Given the description of an element on the screen output the (x, y) to click on. 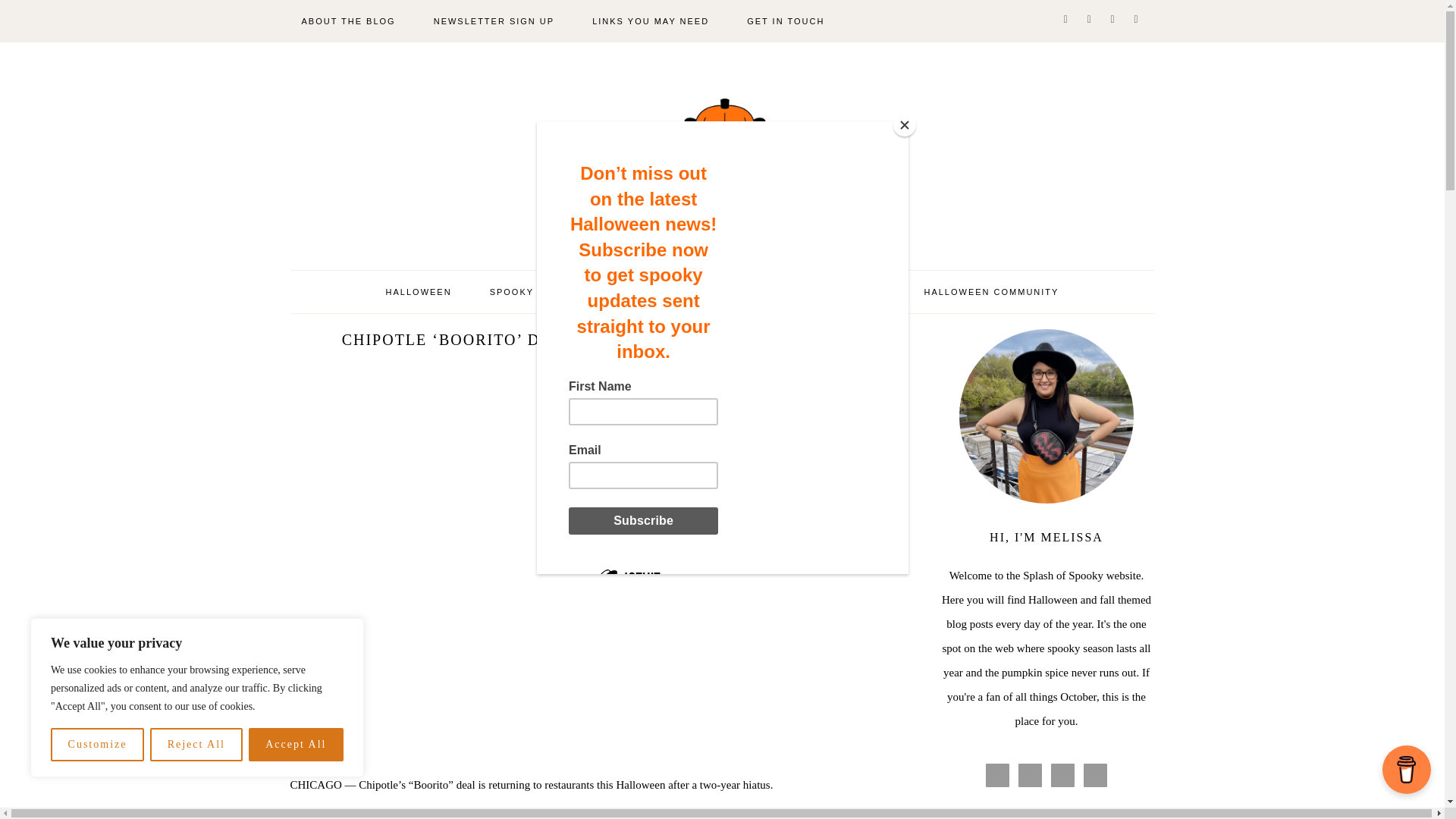
LINKS YOU MAY NEED (650, 21)
SUMMERWEEN (645, 291)
TRADITIONS (853, 291)
Customize (97, 744)
ABOUT THE BLOG (347, 21)
Reject All (196, 744)
HALLOWEEN (418, 291)
NOSTALGIA (752, 291)
NEWSLETTER SIGN UP (493, 21)
GET IN TOUCH (785, 21)
SPOOKY NEWS (529, 291)
Accept All (295, 744)
HALLOWEEN COMMUNITY (990, 291)
